Given the description of an element on the screen output the (x, y) to click on. 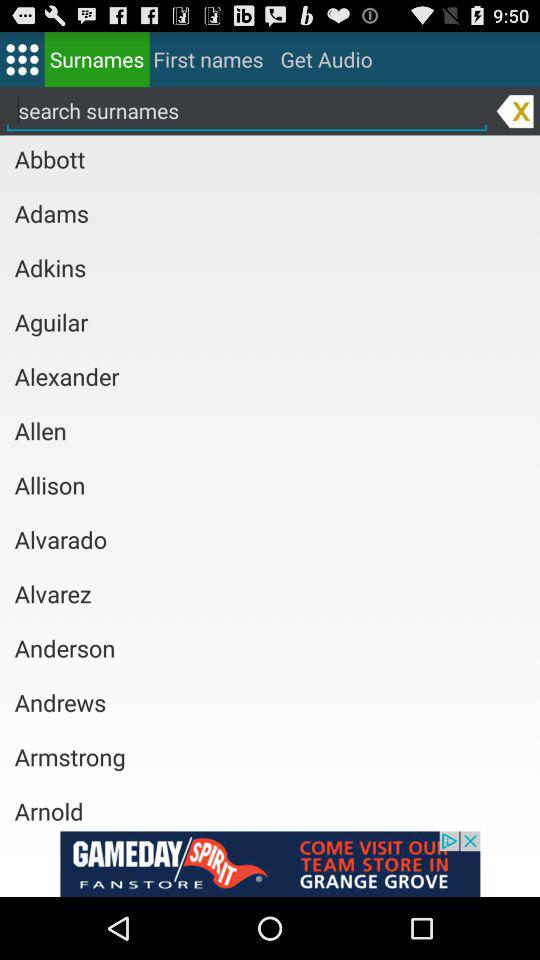
search input delete option (514, 110)
